Given the description of an element on the screen output the (x, y) to click on. 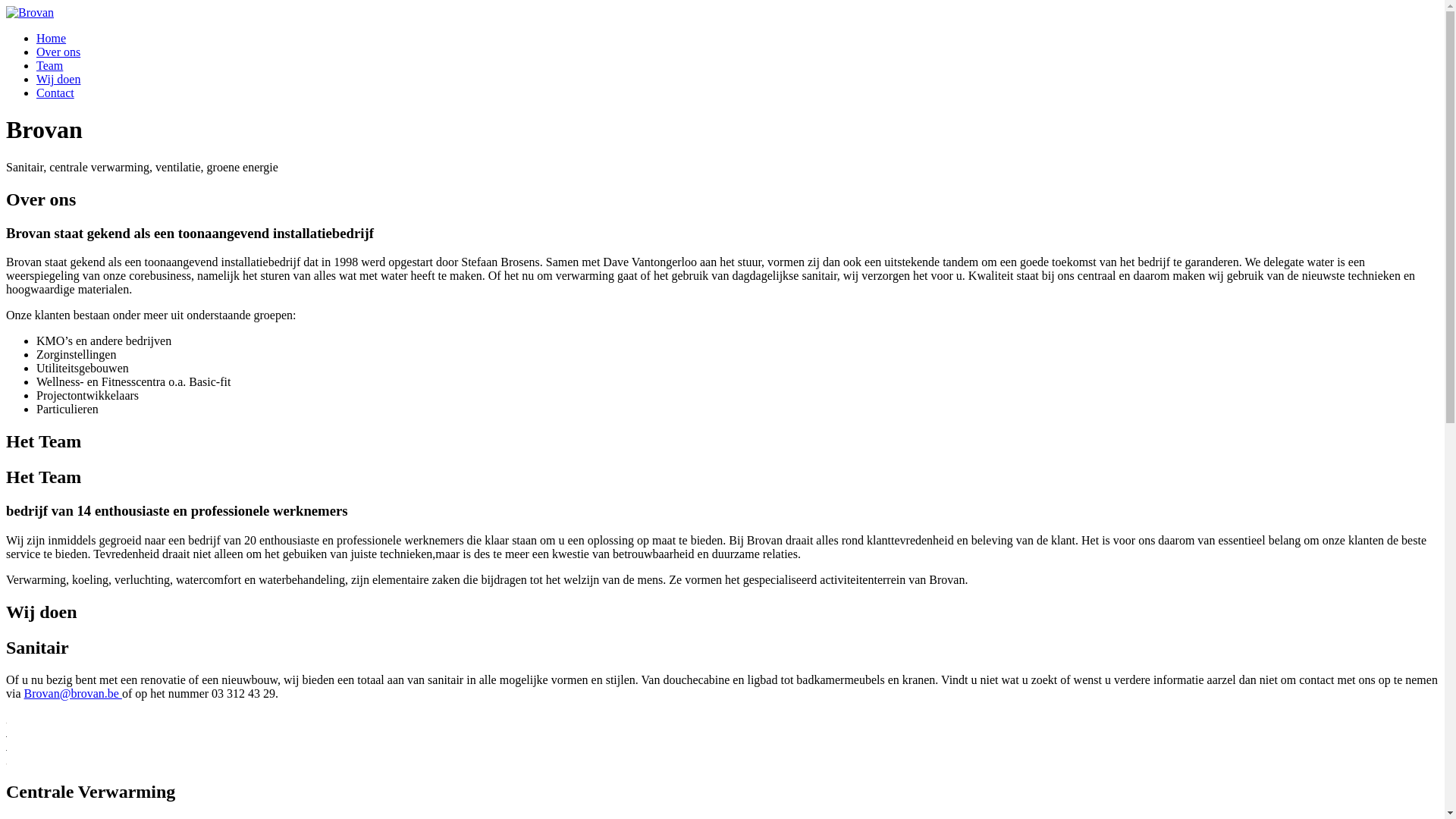
Over ons Element type: text (58, 51)
Contact Element type: text (55, 92)
Home Element type: text (50, 37)
Team Element type: text (49, 65)
Brovan@brovan.be Element type: text (73, 693)
Wij doen Element type: text (58, 78)
